Given the description of an element on the screen output the (x, y) to click on. 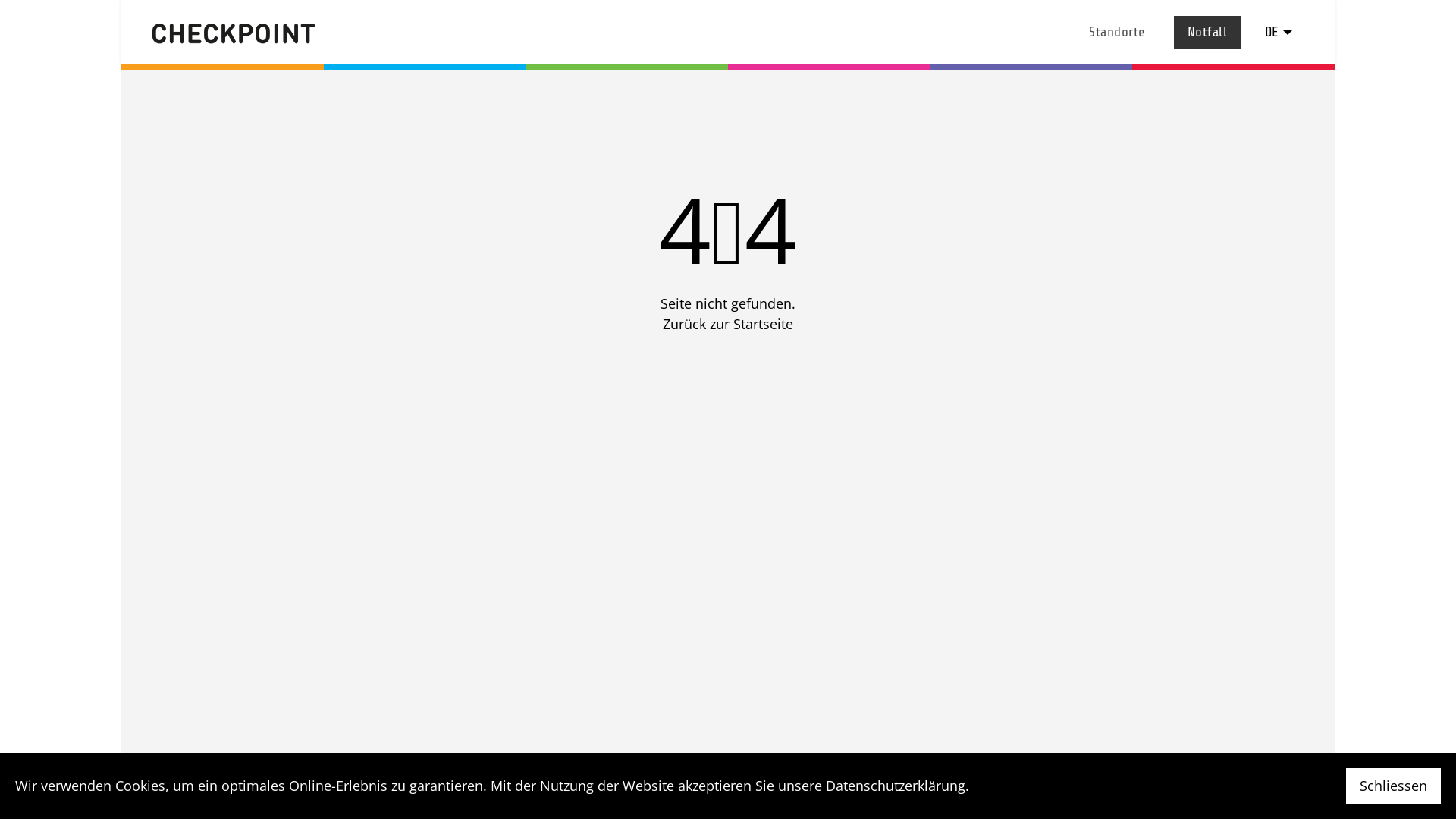
Startseite Element type: text (763, 323)
Schliessen Element type: text (1393, 785)
Notfall Element type: text (1207, 31)
Standorte Element type: text (1116, 31)
Impressum Element type: text (1147, 803)
